Given the description of an element on the screen output the (x, y) to click on. 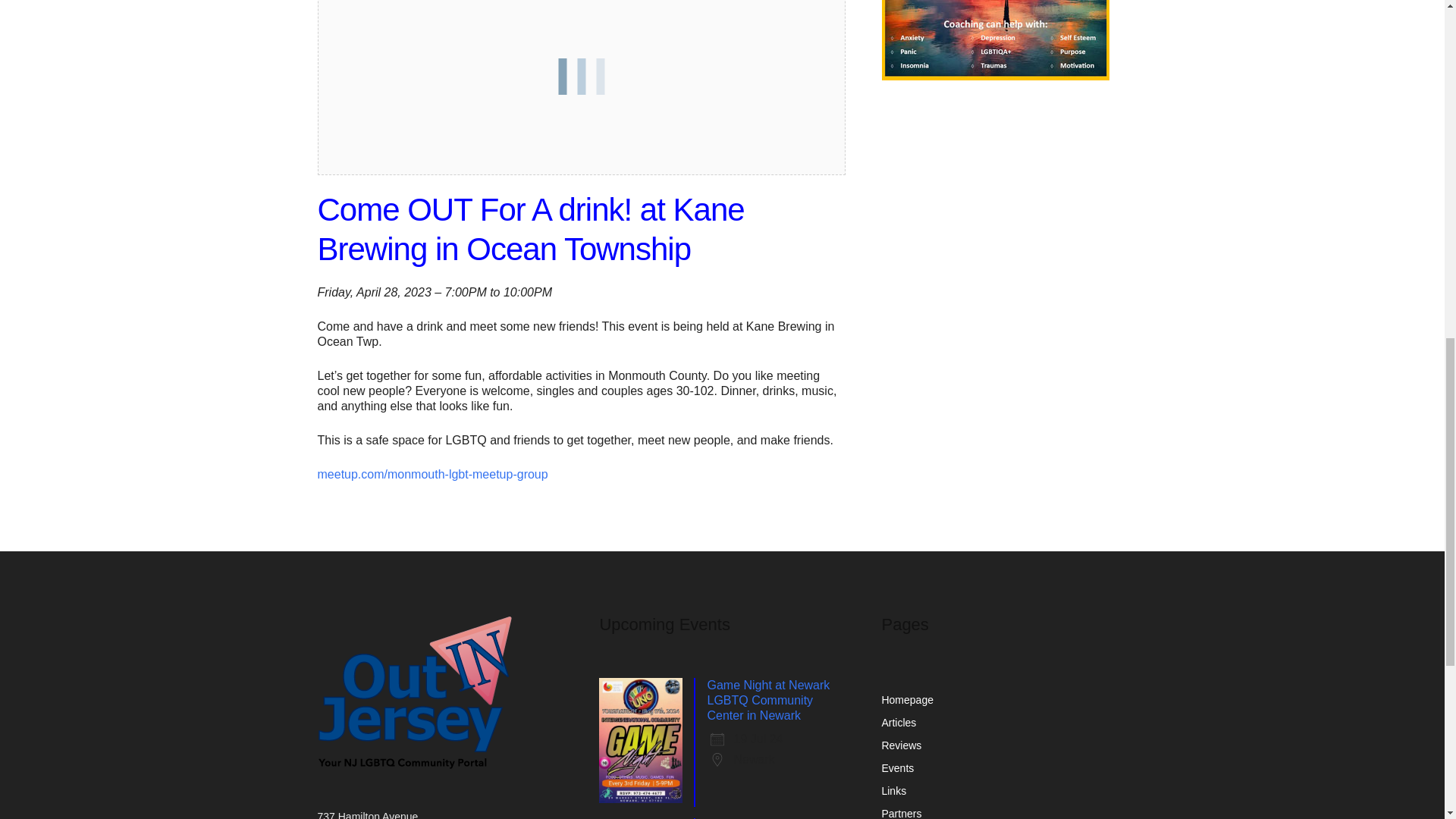
Out In Jersey Magazine (414, 692)
